Given the description of an element on the screen output the (x, y) to click on. 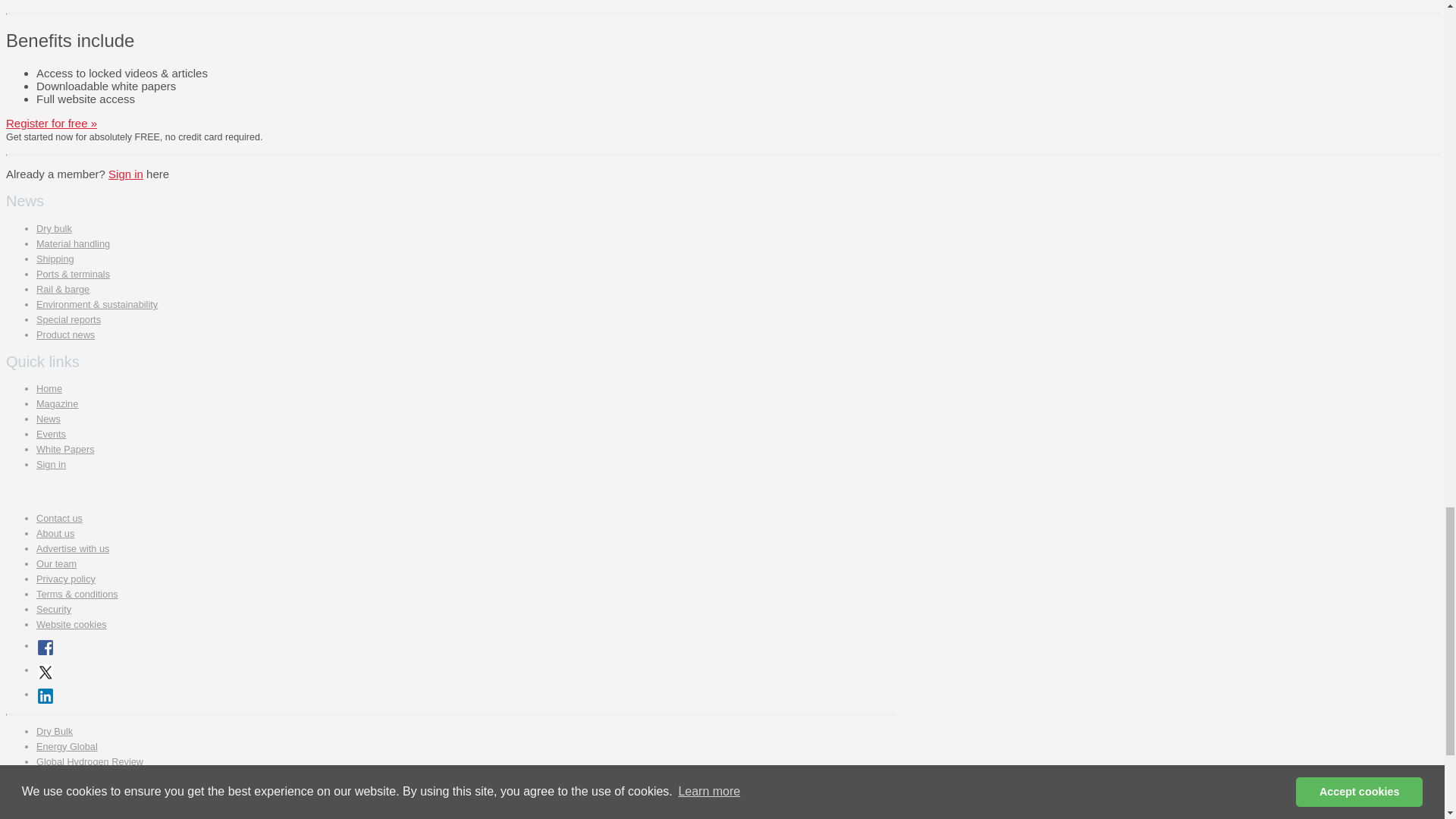
Material handling (73, 243)
Sign in (124, 173)
Dry bulk (53, 228)
